Given the description of an element on the screen output the (x, y) to click on. 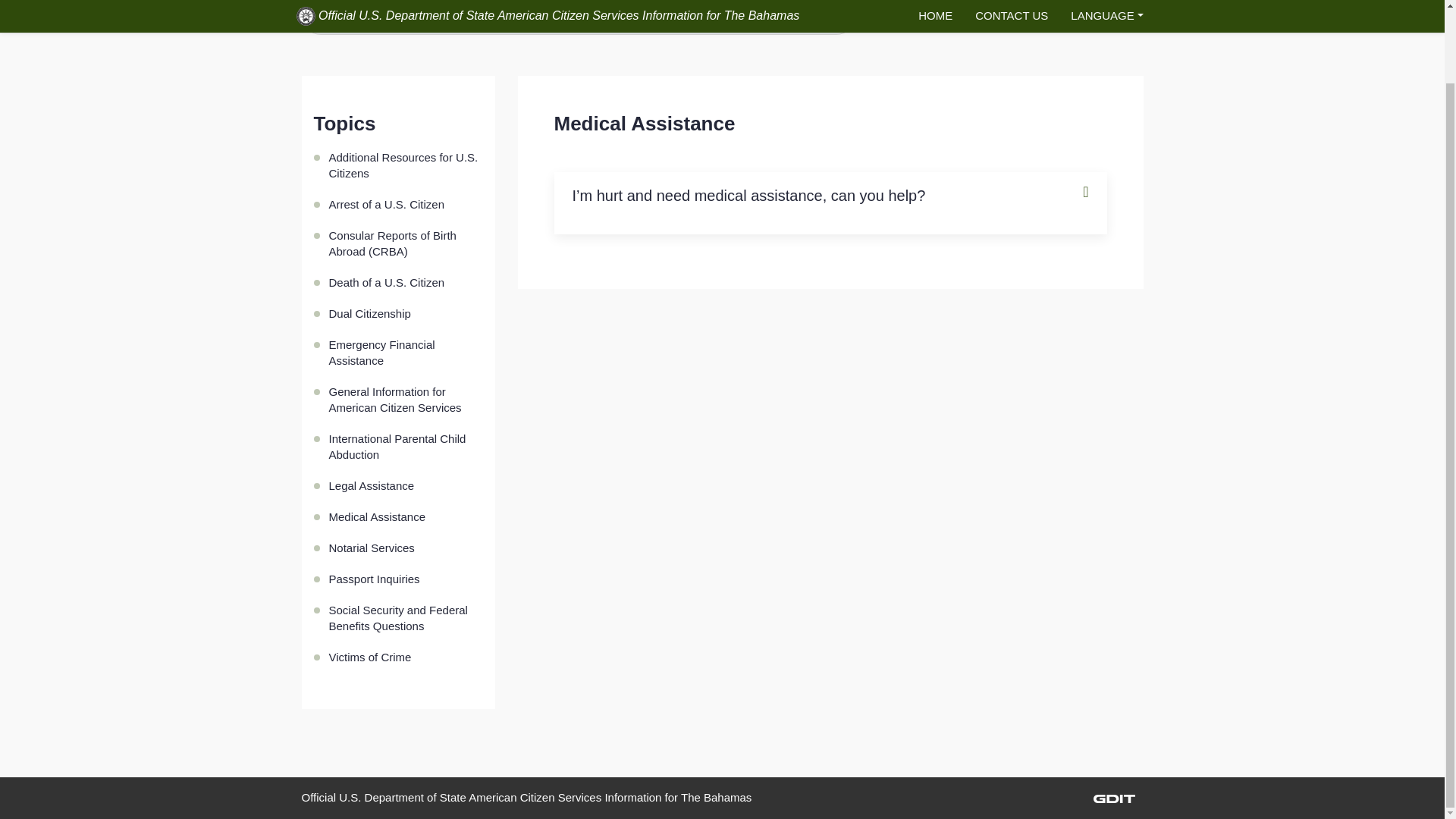
Arrest of a U.S. Citizen (406, 204)
International Parental Child Abduction (406, 446)
Passport Inquiries (406, 578)
Death of a U.S. Citizen (406, 282)
Social Security and Federal Benefits Questions (406, 617)
Emergency Financial Assistance (406, 352)
Medical Assistance (406, 516)
Dual Citizenship (406, 313)
Notarial Services (406, 547)
Victims of Crime (406, 656)
General Information for American Citizen Services (406, 399)
Additional Resources for U.S. Citizens (406, 165)
Legal Assistance (406, 485)
